Given the description of an element on the screen output the (x, y) to click on. 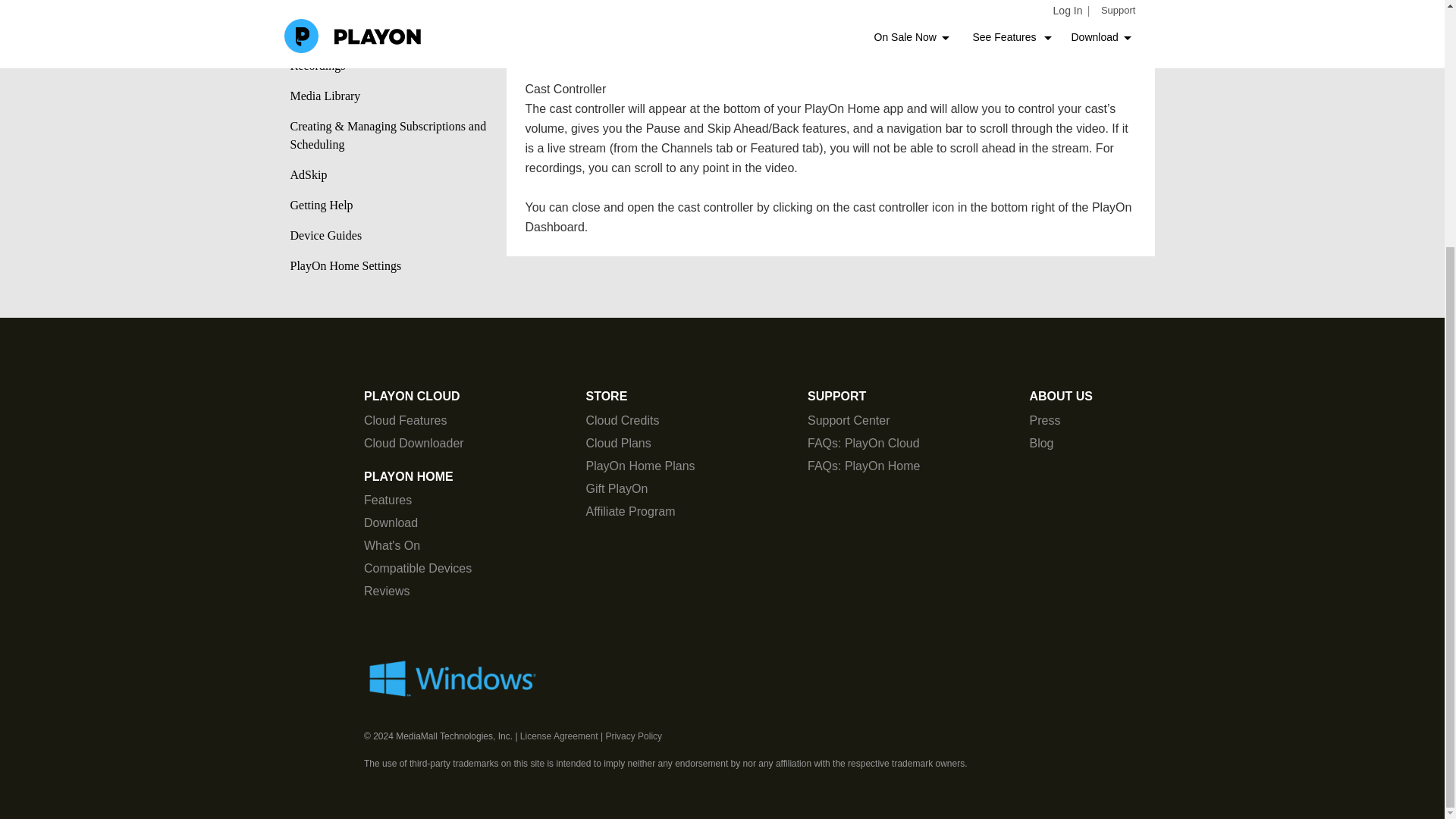
Channels (397, 7)
Casting (387, 35)
